Given the description of an element on the screen output the (x, y) to click on. 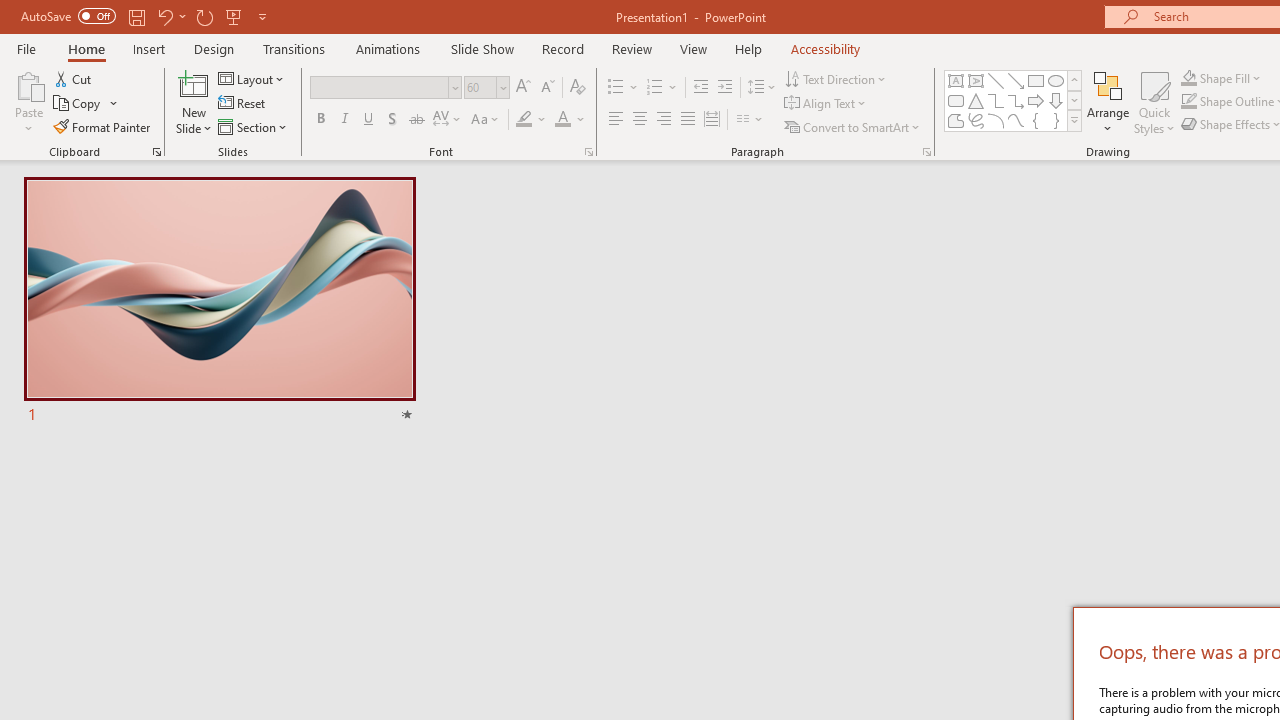
Text Direction (836, 78)
Shadow (392, 119)
Columns (750, 119)
Quick Styles (1154, 102)
Underline (369, 119)
Convert to SmartArt (853, 126)
Left Brace (1035, 120)
Font Color Red (562, 119)
